Given the description of an element on the screen output the (x, y) to click on. 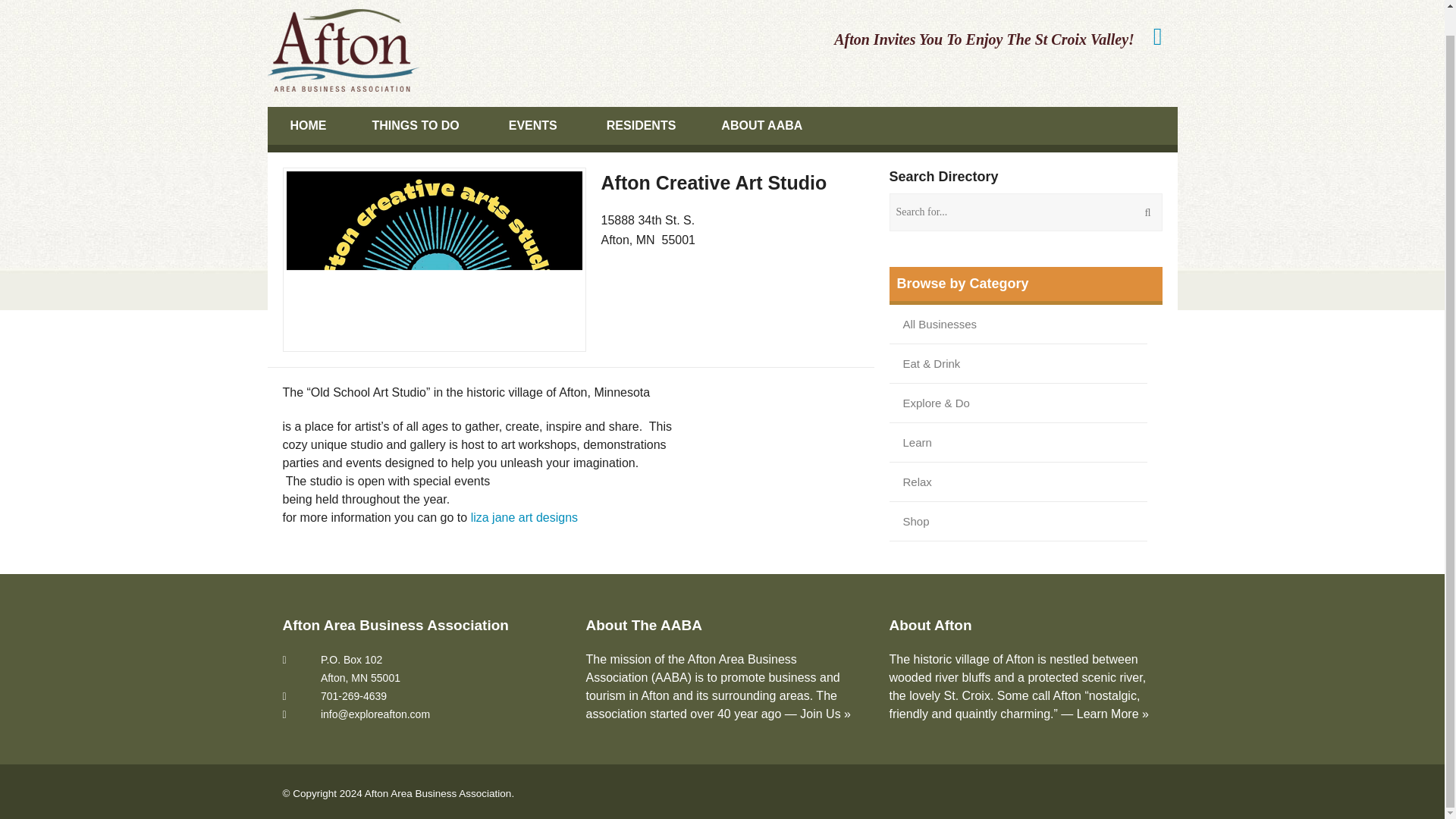
RESIDENTS (640, 125)
Shop (916, 521)
Search for... (1025, 211)
THINGS TO DO (416, 125)
Search (31, 6)
Search for... (1025, 211)
HOME (307, 125)
All Businesses (940, 323)
ABOUT AABA (763, 125)
liza jane art designs (524, 517)
